Given the description of an element on the screen output the (x, y) to click on. 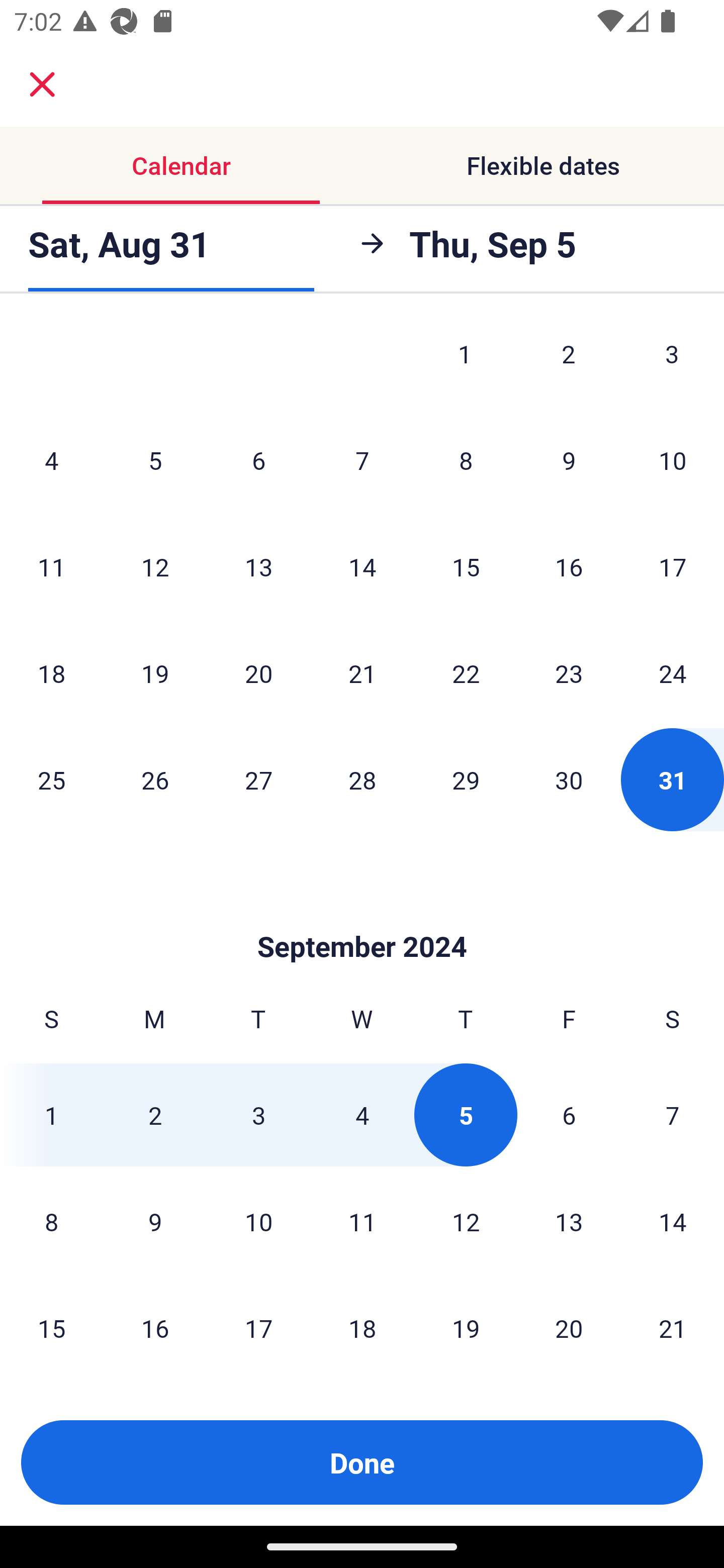
close. (42, 84)
Flexible dates (542, 164)
1 Thursday, August 1, 2024 (464, 362)
2 Friday, August 2, 2024 (568, 362)
3 Saturday, August 3, 2024 (672, 362)
4 Sunday, August 4, 2024 (51, 460)
5 Monday, August 5, 2024 (155, 460)
6 Tuesday, August 6, 2024 (258, 460)
7 Wednesday, August 7, 2024 (362, 460)
8 Thursday, August 8, 2024 (465, 460)
9 Friday, August 9, 2024 (569, 460)
10 Saturday, August 10, 2024 (672, 460)
11 Sunday, August 11, 2024 (51, 566)
12 Monday, August 12, 2024 (155, 566)
13 Tuesday, August 13, 2024 (258, 566)
14 Wednesday, August 14, 2024 (362, 566)
15 Thursday, August 15, 2024 (465, 566)
16 Friday, August 16, 2024 (569, 566)
17 Saturday, August 17, 2024 (672, 566)
18 Sunday, August 18, 2024 (51, 672)
19 Monday, August 19, 2024 (155, 672)
20 Tuesday, August 20, 2024 (258, 672)
21 Wednesday, August 21, 2024 (362, 672)
22 Thursday, August 22, 2024 (465, 672)
23 Friday, August 23, 2024 (569, 672)
24 Saturday, August 24, 2024 (672, 672)
25 Sunday, August 25, 2024 (51, 779)
26 Monday, August 26, 2024 (155, 779)
27 Tuesday, August 27, 2024 (258, 779)
28 Wednesday, August 28, 2024 (362, 779)
29 Thursday, August 29, 2024 (465, 779)
30 Friday, August 30, 2024 (569, 779)
Skip to Done (362, 916)
6 Friday, September 6, 2024 (569, 1114)
7 Saturday, September 7, 2024 (672, 1114)
8 Sunday, September 8, 2024 (51, 1221)
9 Monday, September 9, 2024 (155, 1221)
10 Tuesday, September 10, 2024 (258, 1221)
11 Wednesday, September 11, 2024 (362, 1221)
12 Thursday, September 12, 2024 (465, 1221)
13 Friday, September 13, 2024 (569, 1221)
14 Saturday, September 14, 2024 (672, 1221)
15 Sunday, September 15, 2024 (51, 1327)
16 Monday, September 16, 2024 (155, 1327)
17 Tuesday, September 17, 2024 (258, 1327)
18 Wednesday, September 18, 2024 (362, 1327)
19 Thursday, September 19, 2024 (465, 1327)
20 Friday, September 20, 2024 (569, 1327)
21 Saturday, September 21, 2024 (672, 1327)
Done (361, 1462)
